Given the description of an element on the screen output the (x, y) to click on. 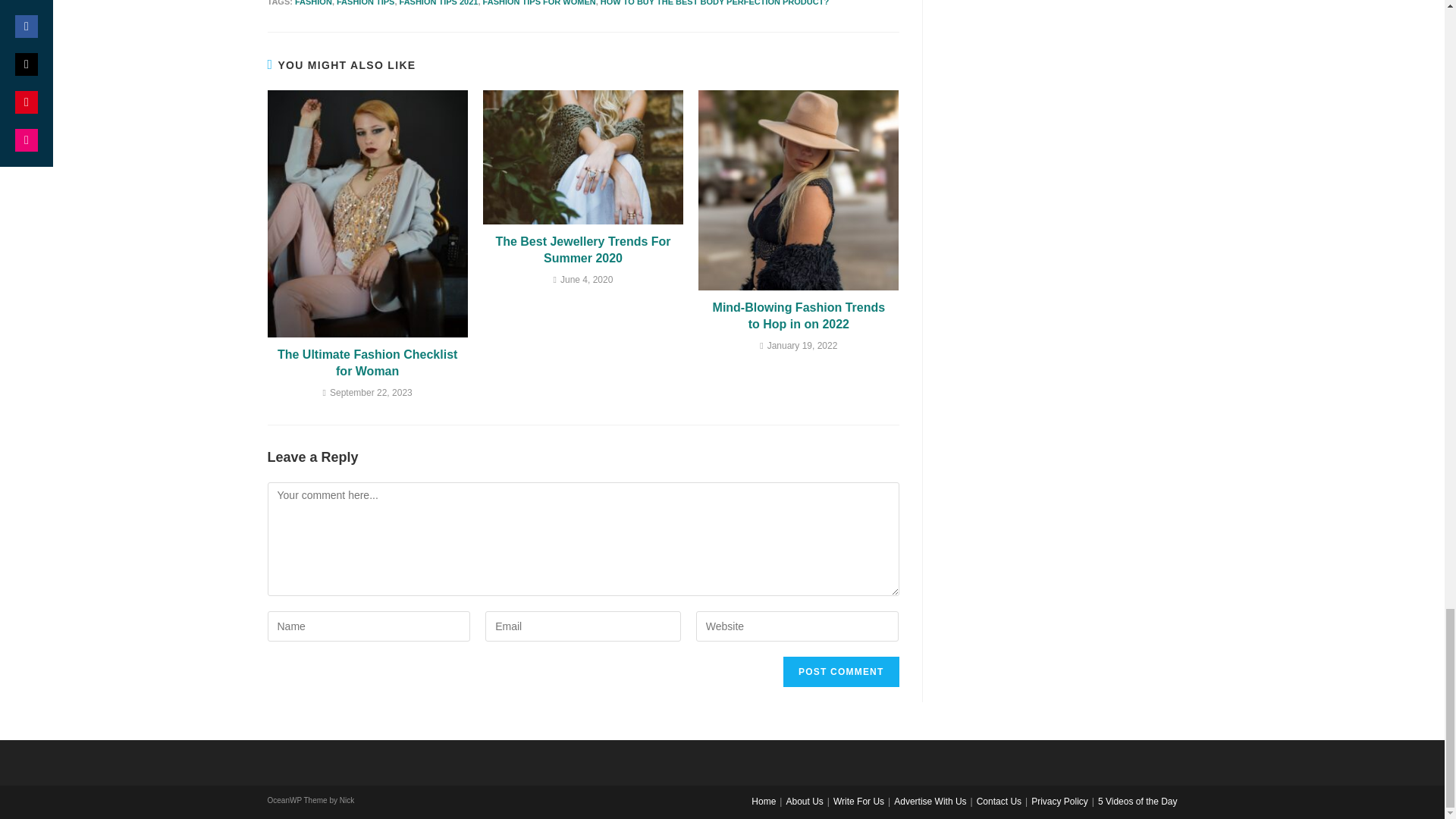
The Ultimate Fashion Checklist for Woman (367, 363)
Post Comment (840, 671)
Mind-Blowing Fashion Trends to Hop in on 2022 (798, 316)
The Best Jewellery Trends For Summer 2020 (583, 250)
